Given the description of an element on the screen output the (x, y) to click on. 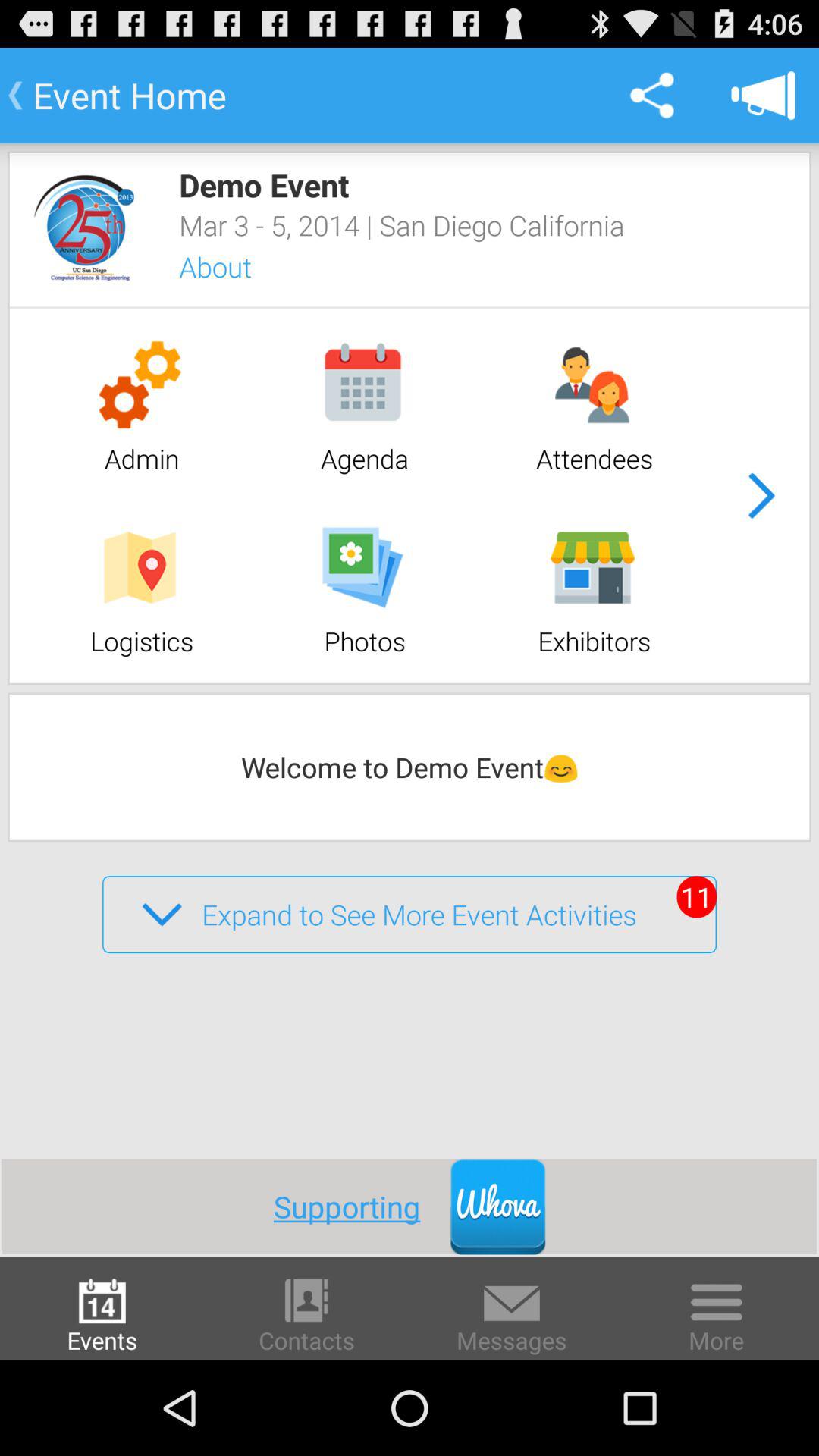
demo event homepage (84, 227)
